Given the description of an element on the screen output the (x, y) to click on. 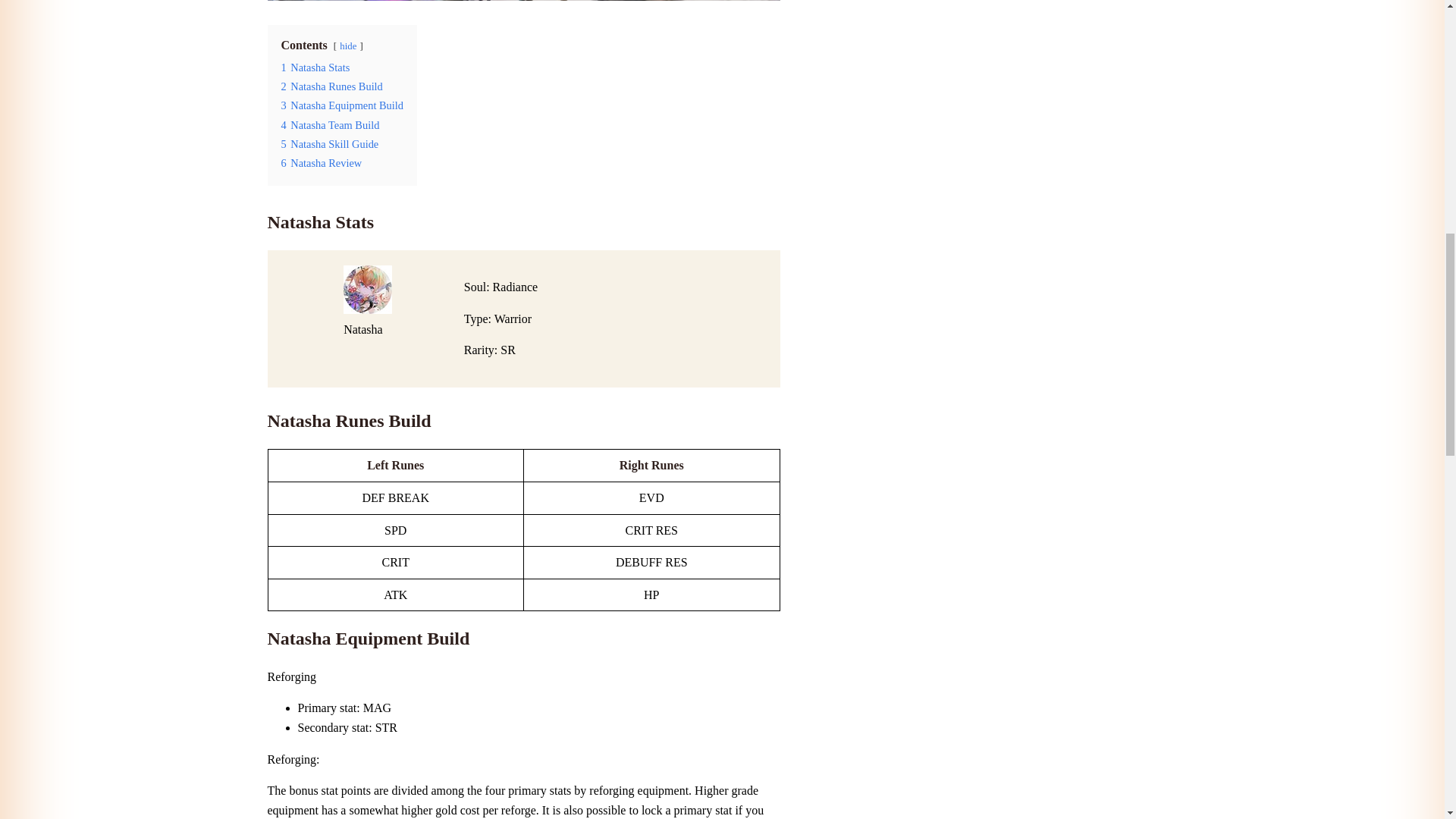
hide (347, 45)
3 Natasha Equipment Build (342, 105)
2 Natasha Runes Build (331, 86)
4 Natasha Team Build (329, 124)
5 Natasha Skill Guide (329, 143)
6 Natasha Review (321, 162)
1 Natasha Stats (315, 67)
